Given the description of an element on the screen output the (x, y) to click on. 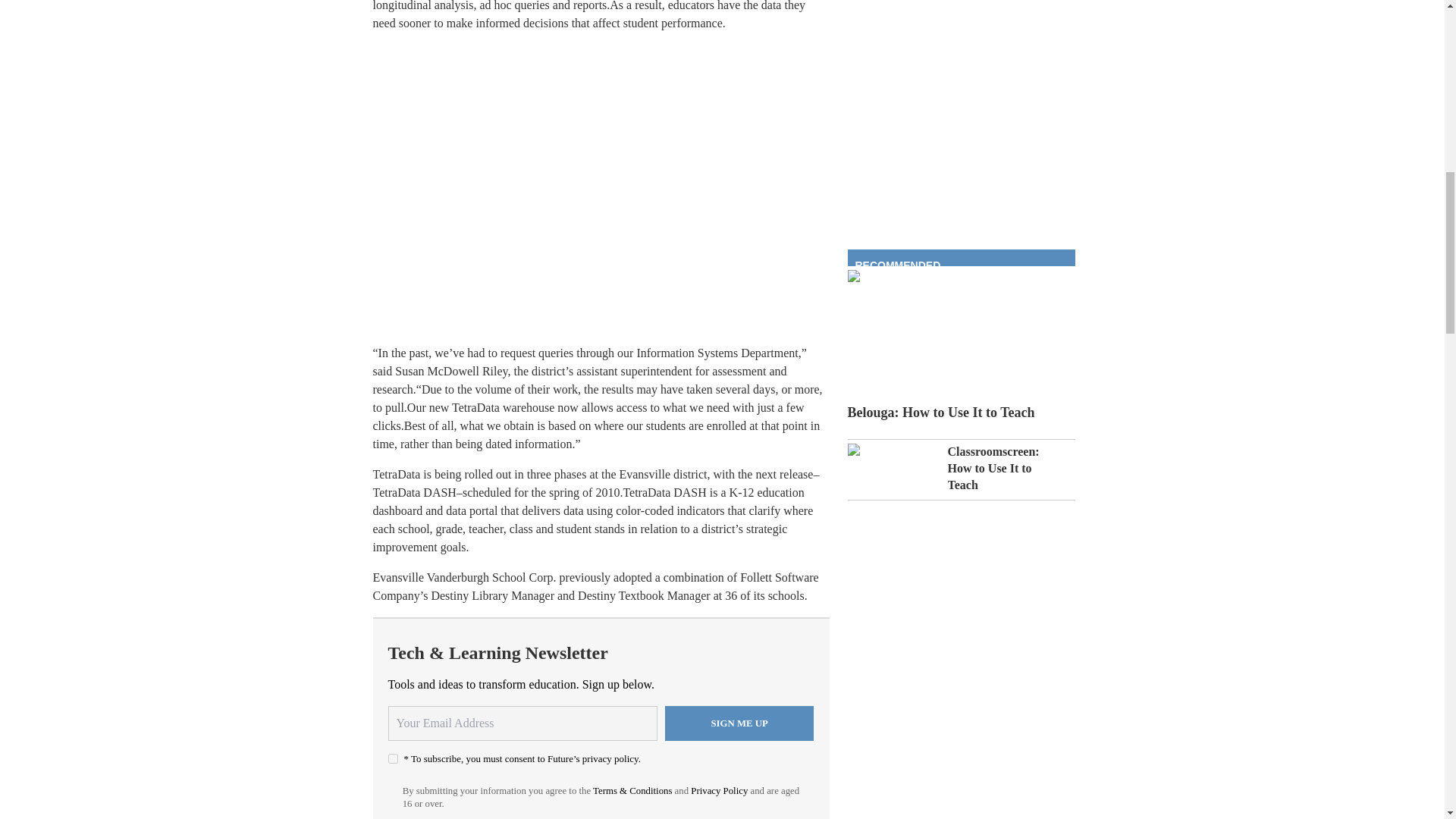
Sign me up (739, 723)
Sign me up (739, 723)
on (392, 758)
